Given the description of an element on the screen output the (x, y) to click on. 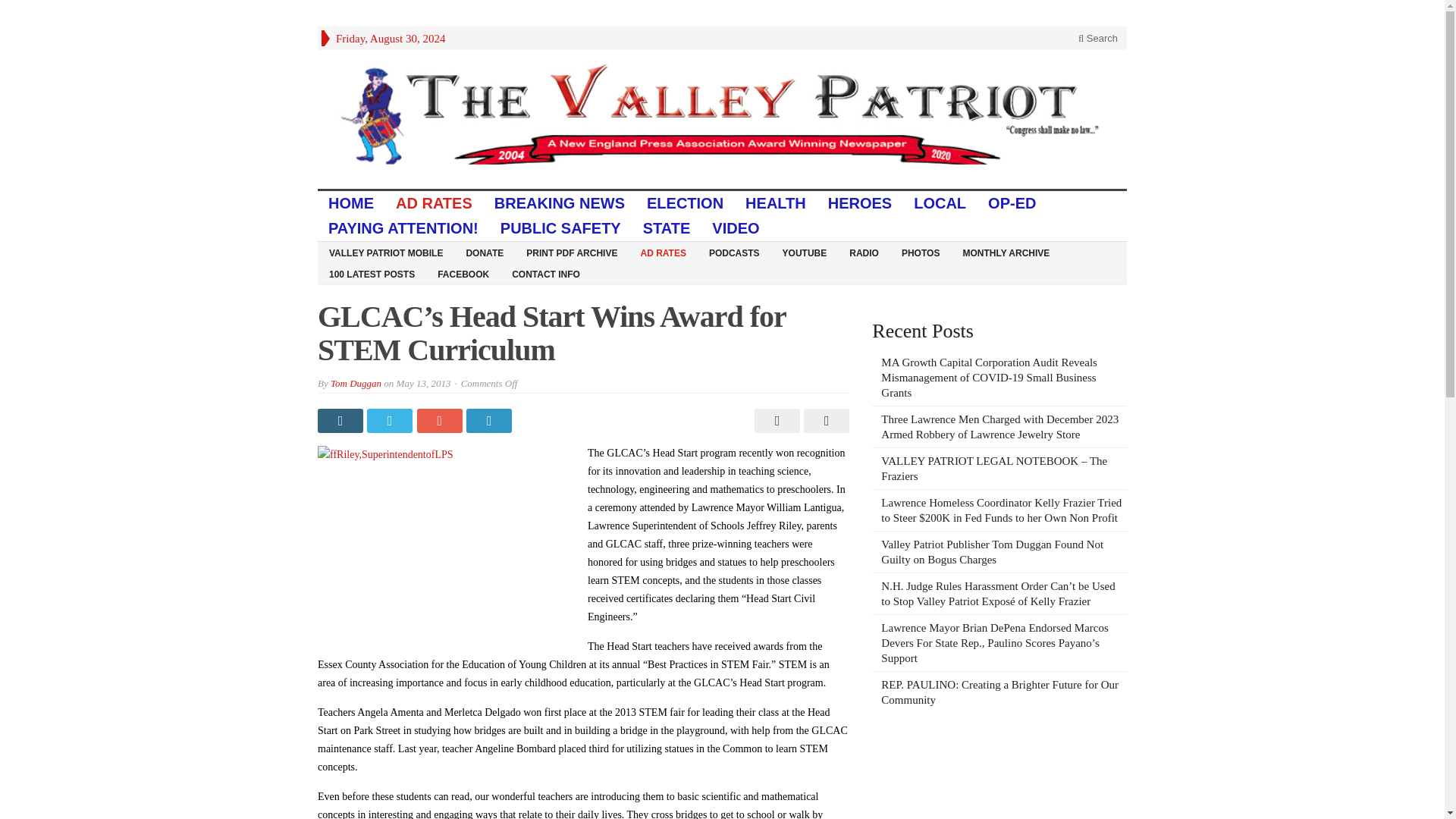
Share on Twitter (391, 420)
ELECTION (685, 203)
HOME (351, 203)
Share on Facebook (341, 420)
100 LATEST POSTS (371, 273)
HEALTH (775, 203)
AD RATES (662, 251)
BREAKING NEWS (559, 203)
HEROES (859, 203)
MONTHLY ARCHIVE (1005, 251)
